Given the description of an element on the screen output the (x, y) to click on. 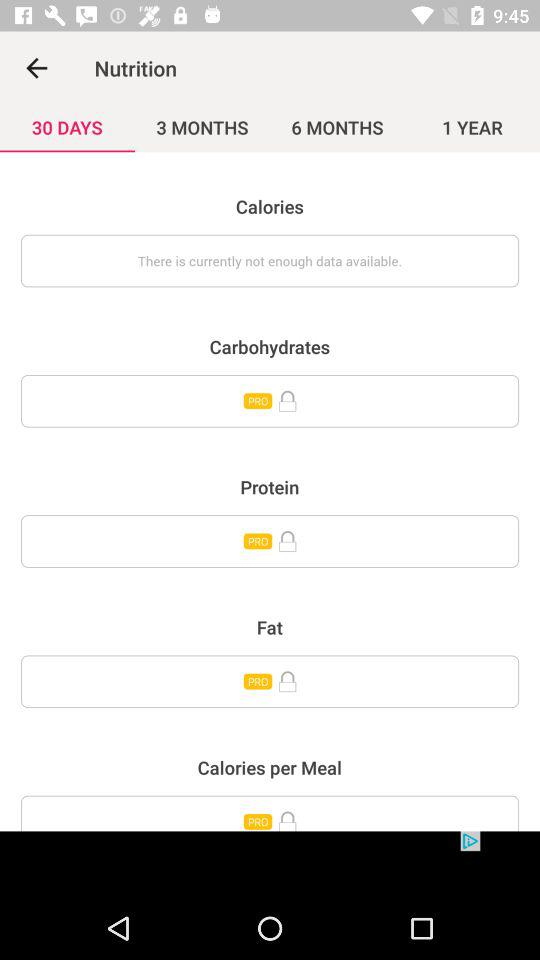
unlock pro feature (269, 541)
